Given the description of an element on the screen output the (x, y) to click on. 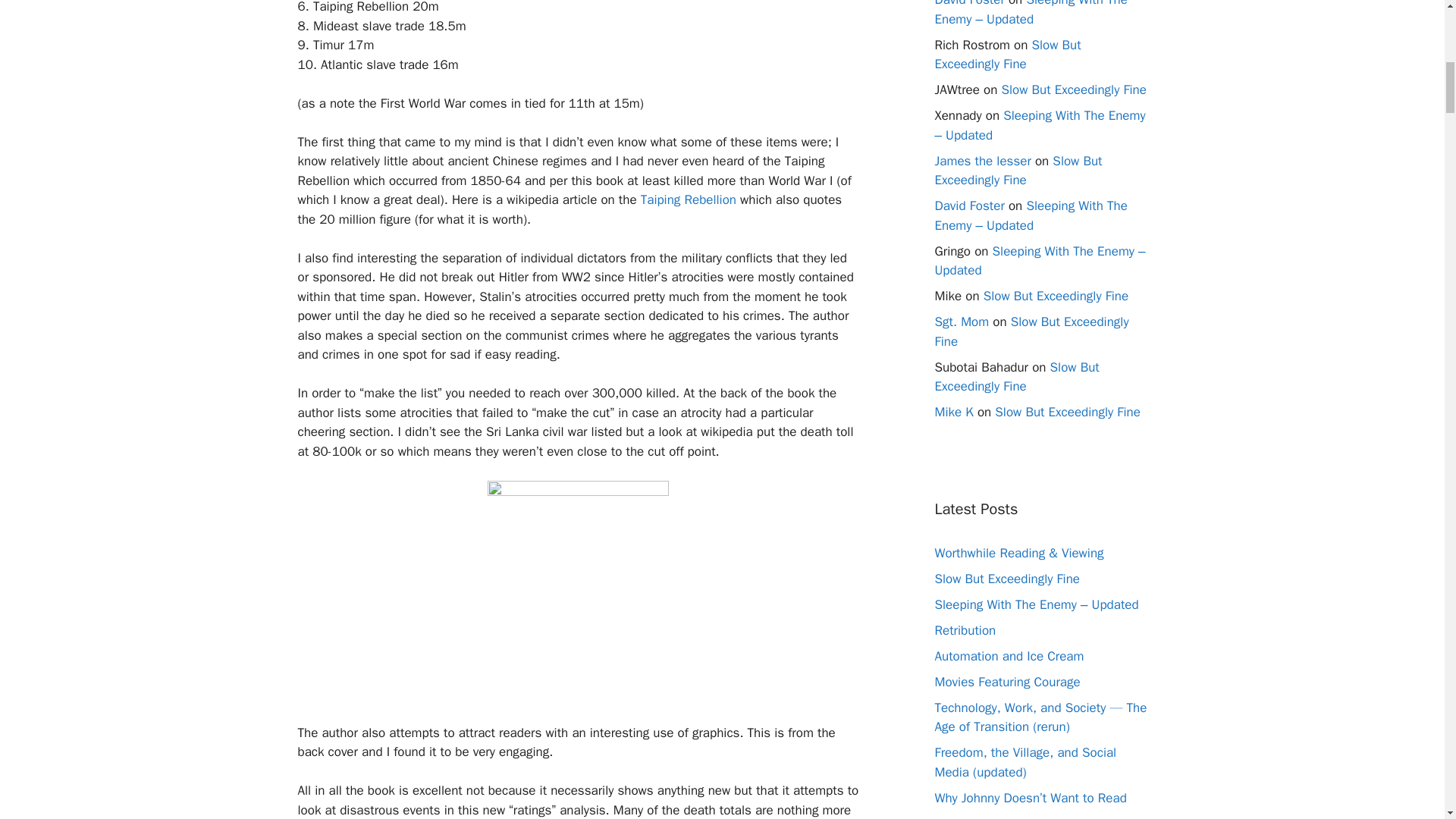
Scroll back to top (1406, 720)
Taiping Rebellion (688, 199)
